Given the description of an element on the screen output the (x, y) to click on. 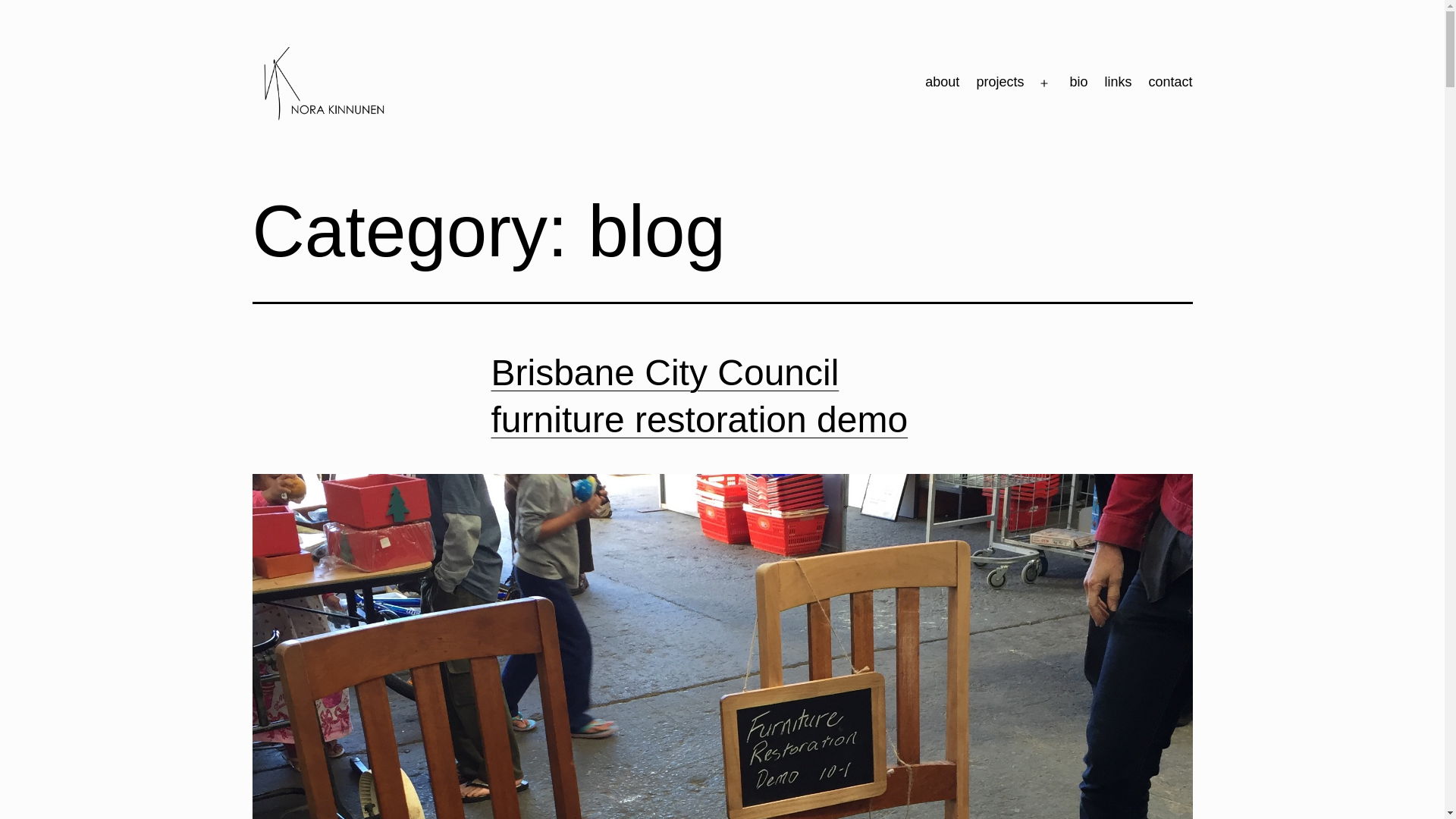
links Element type: text (1117, 82)
contact Element type: text (1169, 82)
about Element type: text (941, 82)
bio Element type: text (1077, 82)
projects Element type: text (999, 82)
Brisbane City Council furniture restoration demo Element type: text (699, 395)
Open menu Element type: text (1043, 82)
